Given the description of an element on the screen output the (x, y) to click on. 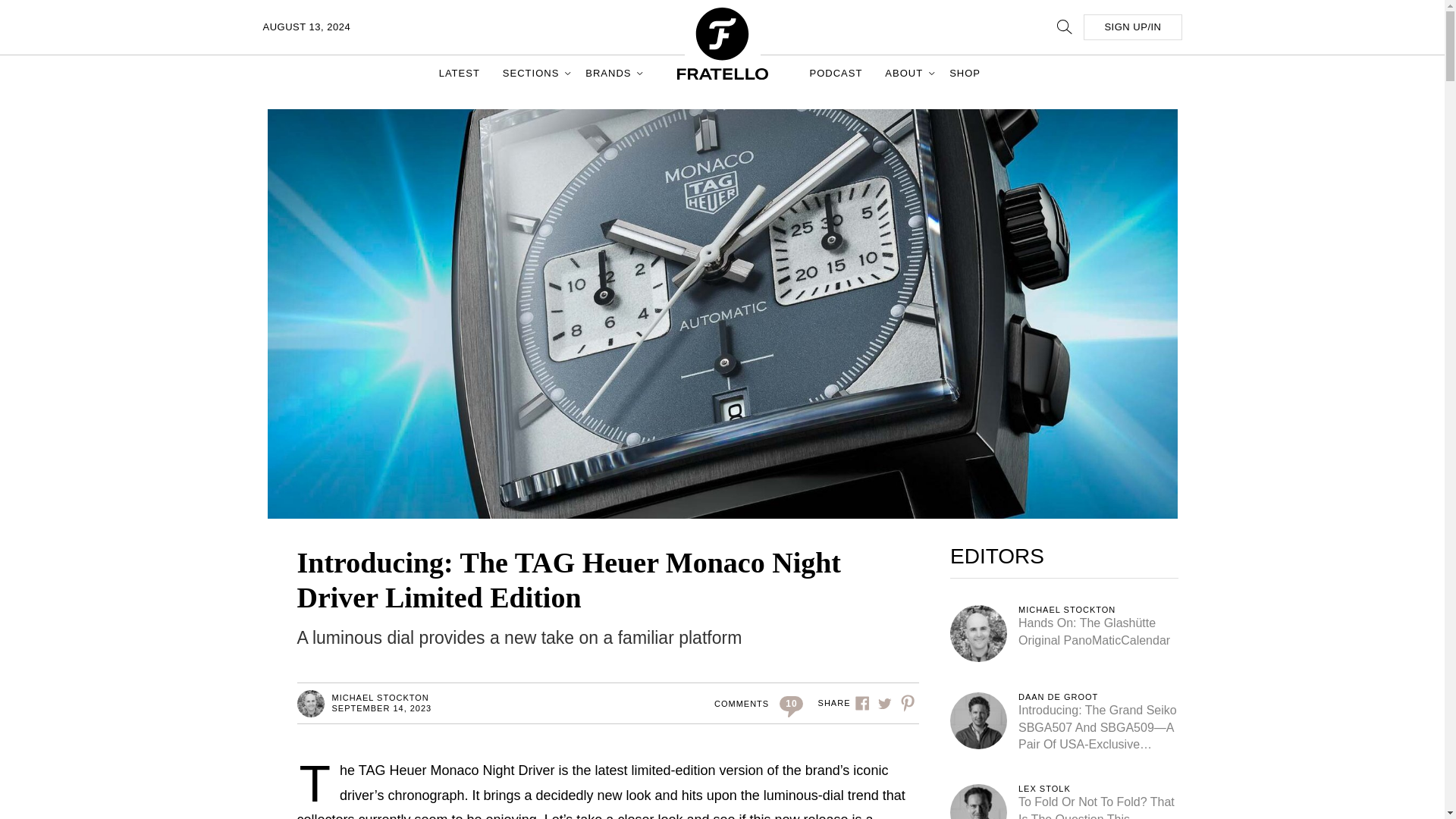
BRANDS (609, 72)
SECTIONS (532, 72)
LATEST (460, 72)
